Given the description of an element on the screen output the (x, y) to click on. 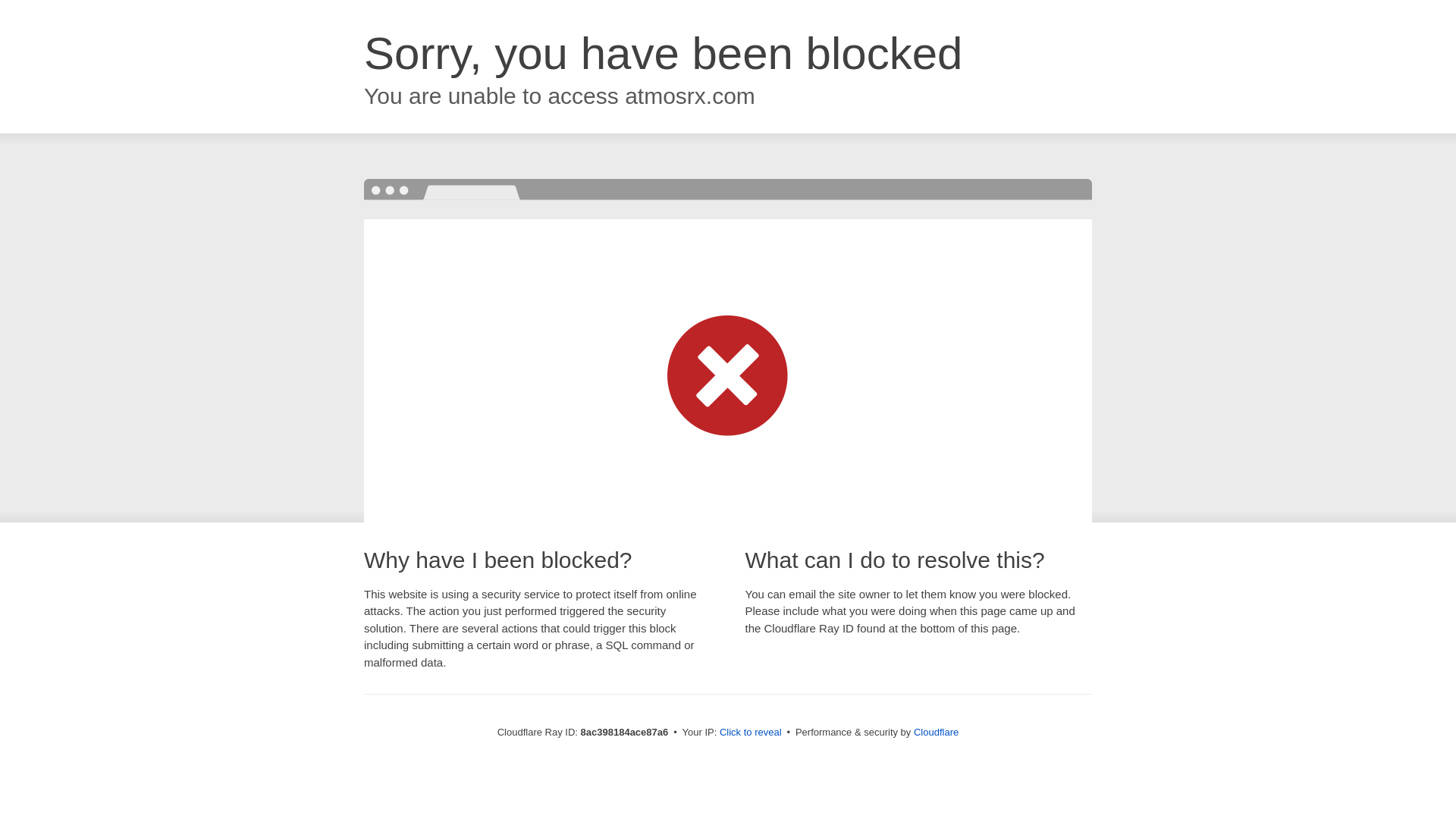
Cloudflare (936, 731)
Click to reveal (750, 732)
